Given the description of an element on the screen output the (x, y) to click on. 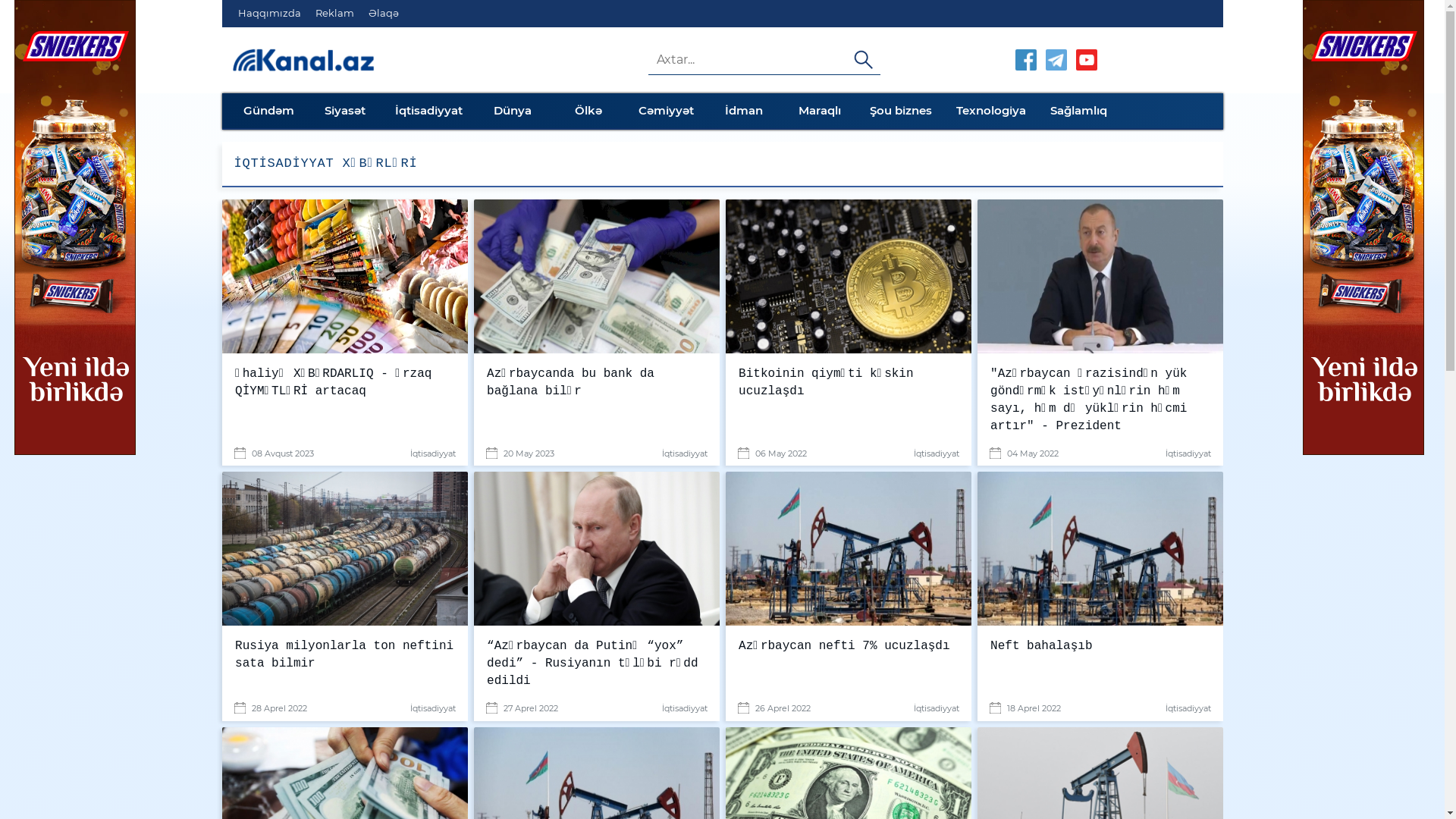
Texnologiya Element type: text (990, 110)
Reklam Element type: text (334, 13)
